Given the description of an element on the screen output the (x, y) to click on. 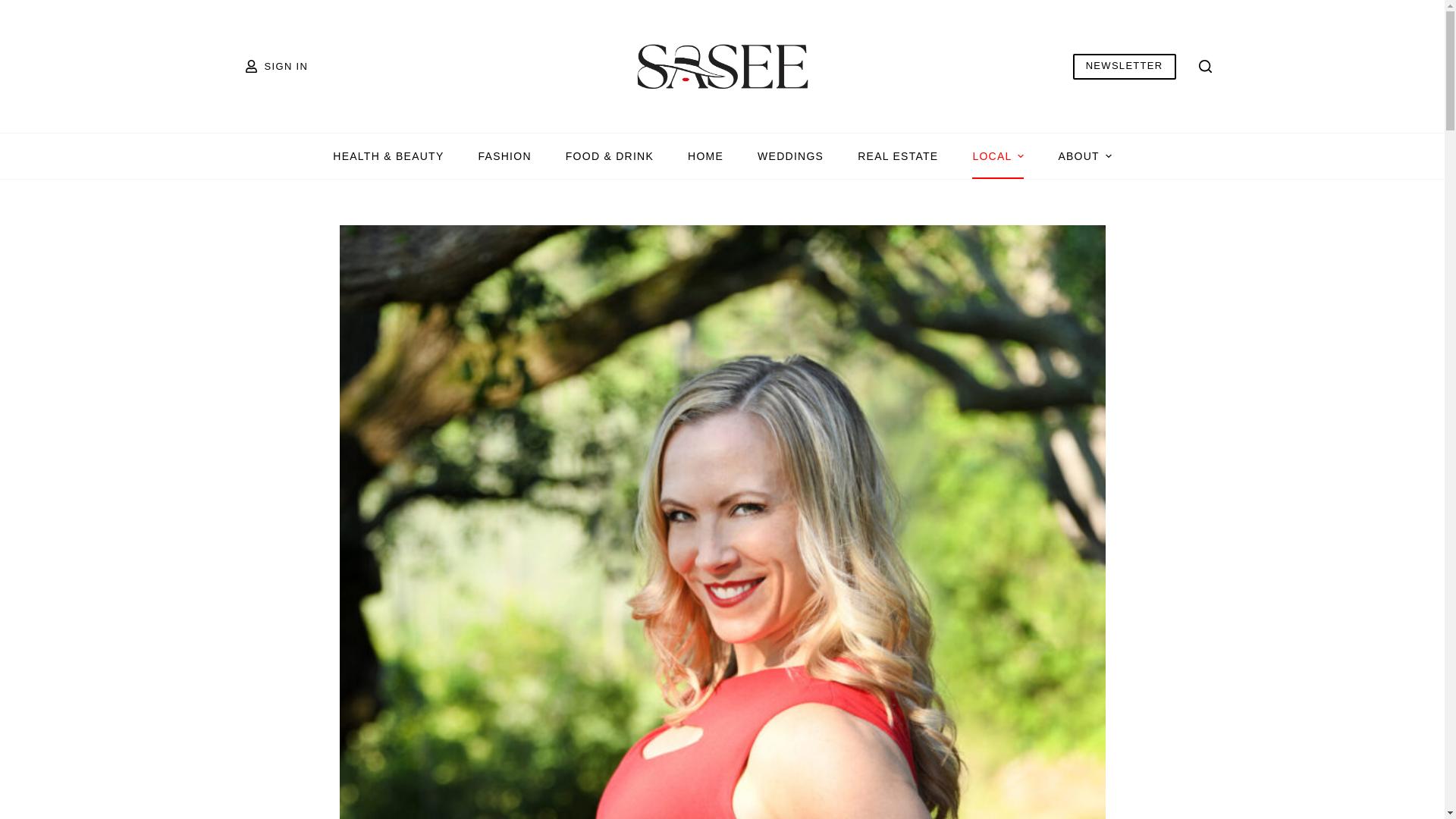
NEWSLETTER (1124, 65)
Skip to content (15, 7)
WEDDINGS (791, 156)
LOCAL (998, 156)
REAL ESTATE (898, 156)
SIGN IN (275, 66)
HOME (706, 156)
FASHION (504, 156)
